Given the description of an element on the screen output the (x, y) to click on. 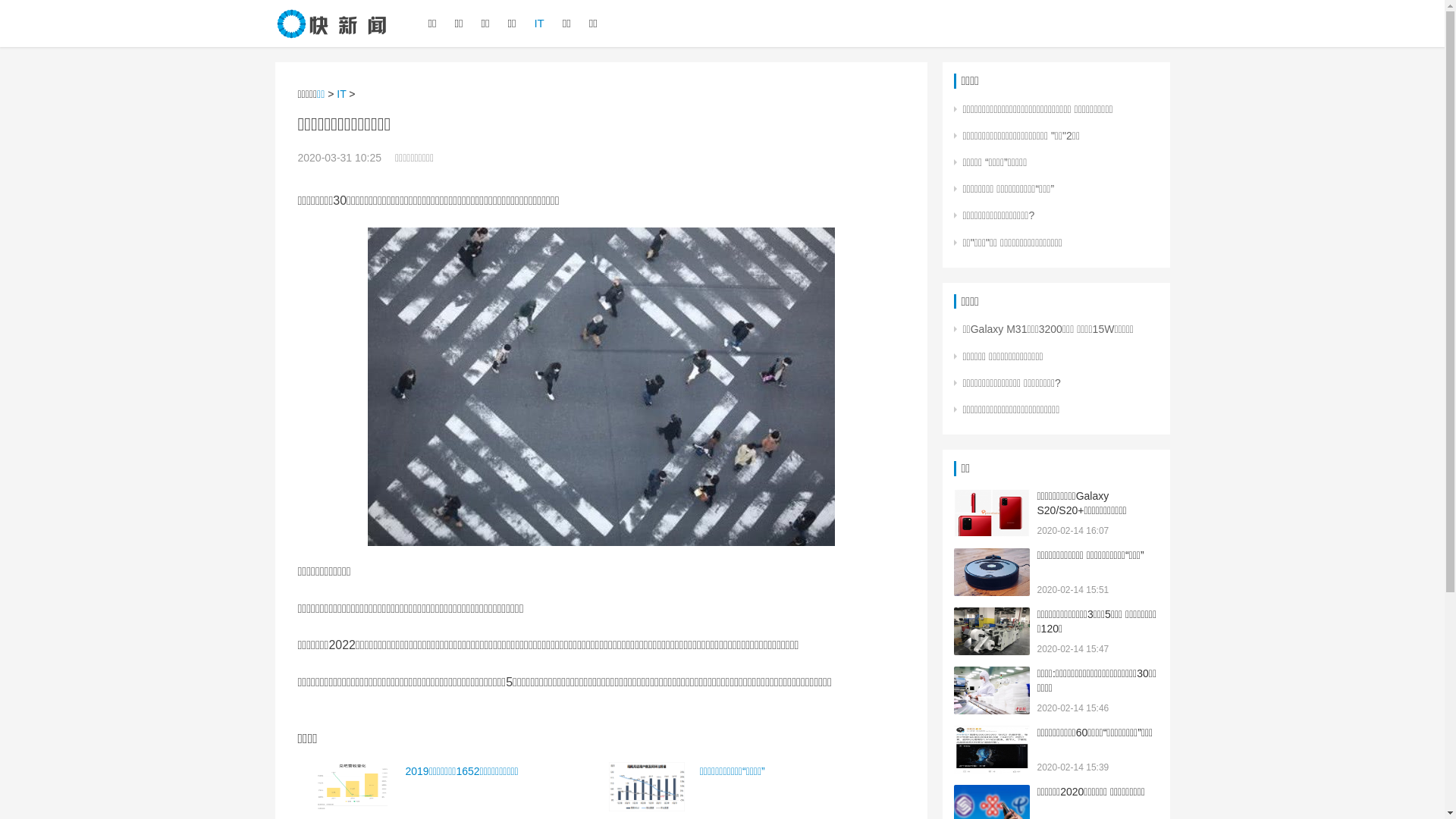
IT Element type: text (340, 93)
IT Element type: text (538, 23)
